Given the description of an element on the screen output the (x, y) to click on. 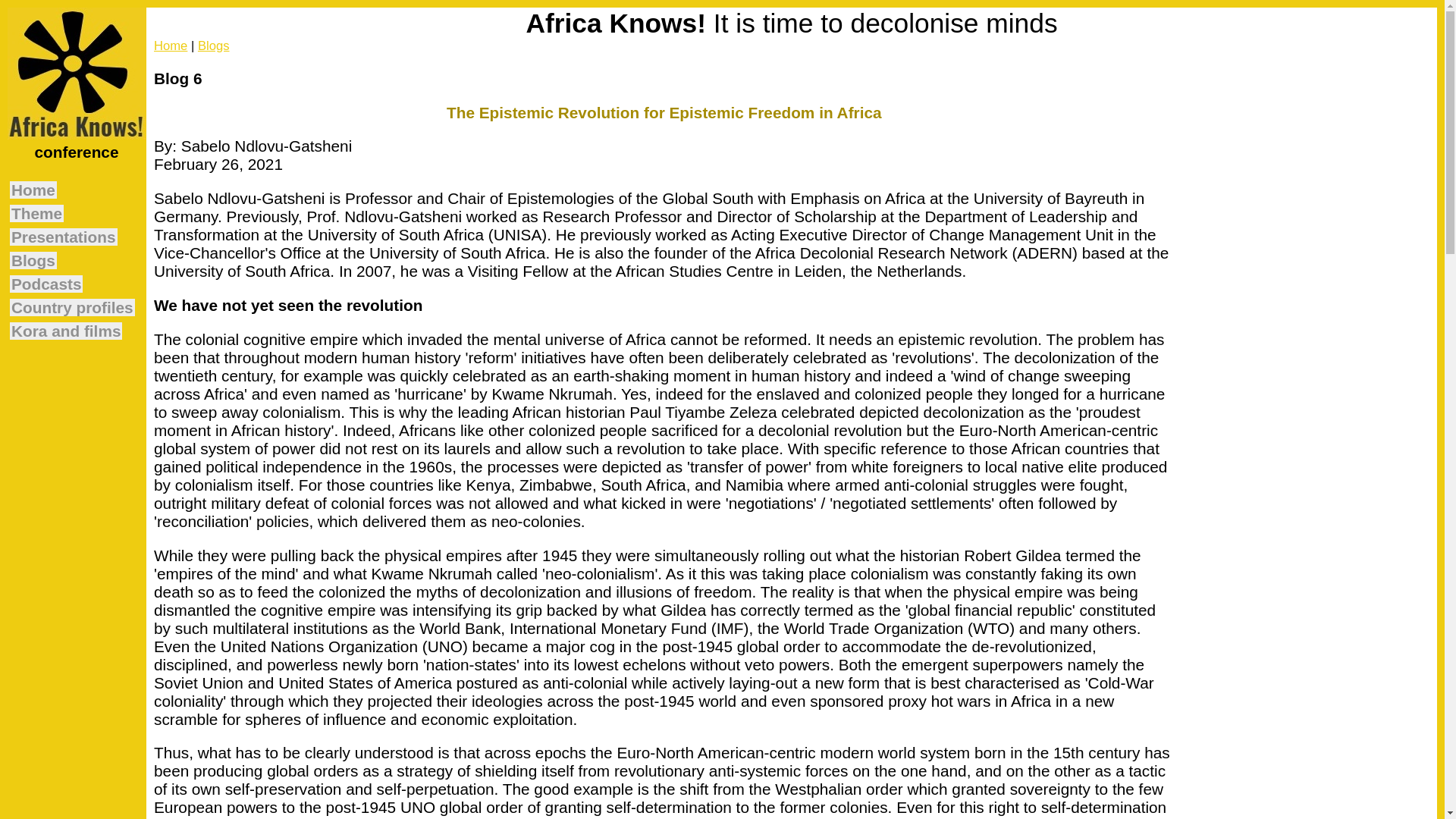
Blogs (33, 260)
Blogs (214, 45)
Podcasts (46, 283)
Home (33, 189)
Presentations (63, 236)
Country profiles (72, 307)
Kora and films (66, 330)
Home (170, 45)
Theme (37, 212)
